Given the description of an element on the screen output the (x, y) to click on. 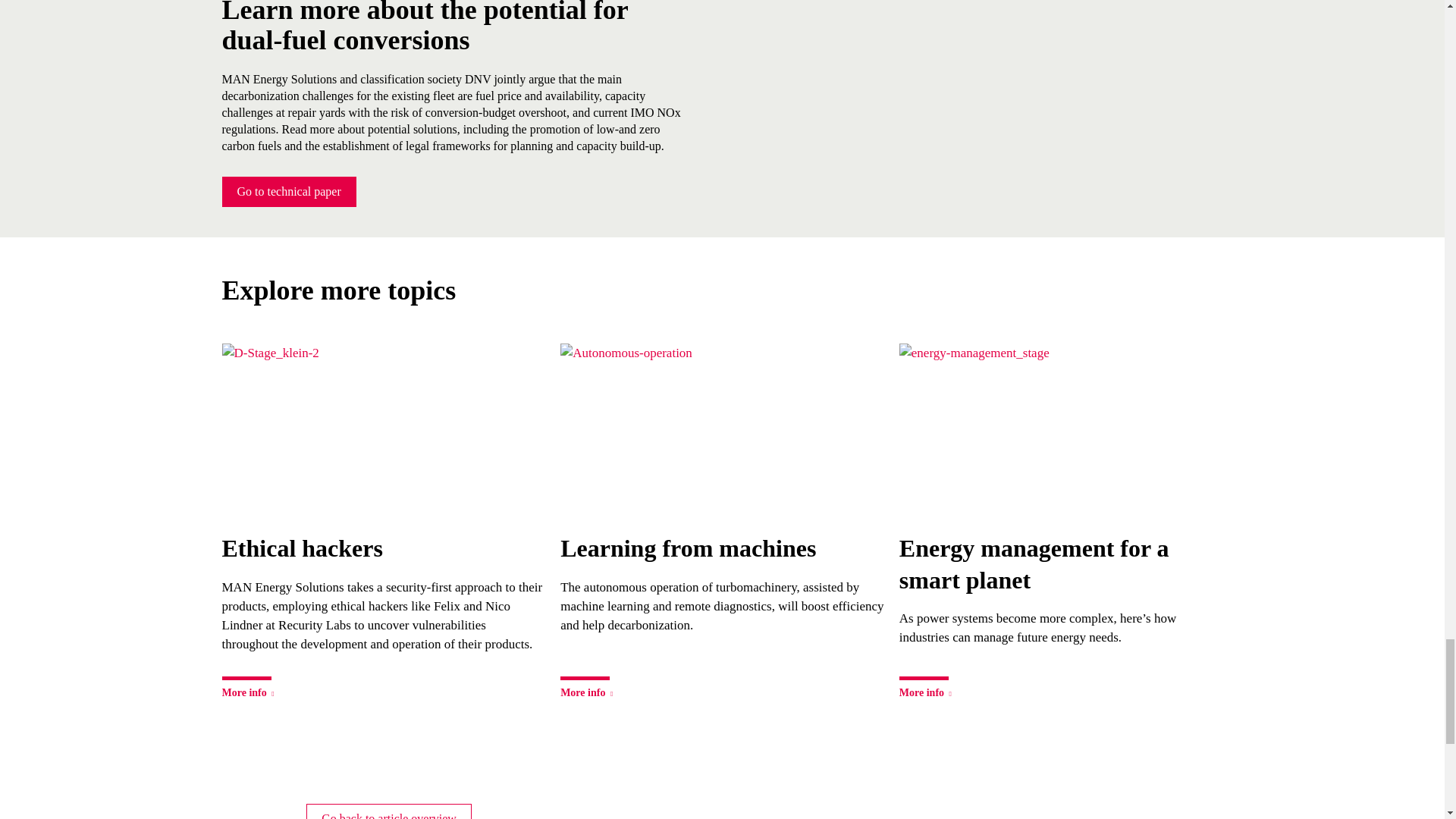
More info (587, 688)
Learning from machines (721, 549)
More info (927, 688)
Go to technical paper (288, 191)
More info (248, 688)
Ethical hackers (382, 549)
Go back to article overview (388, 811)
Energy management for a smart planet (1061, 564)
